Given the description of an element on the screen output the (x, y) to click on. 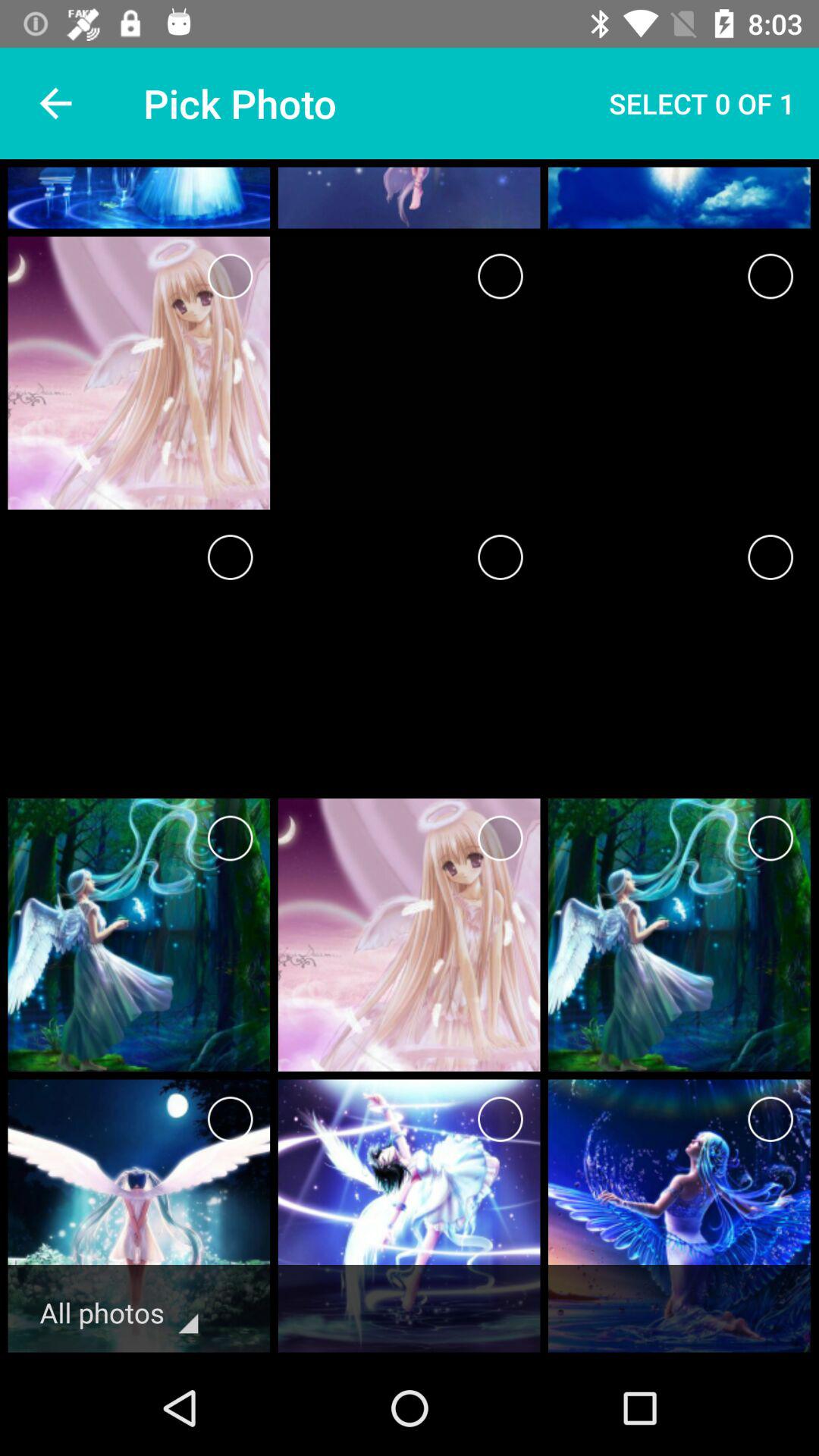
click photo page (230, 276)
